Given the description of an element on the screen output the (x, y) to click on. 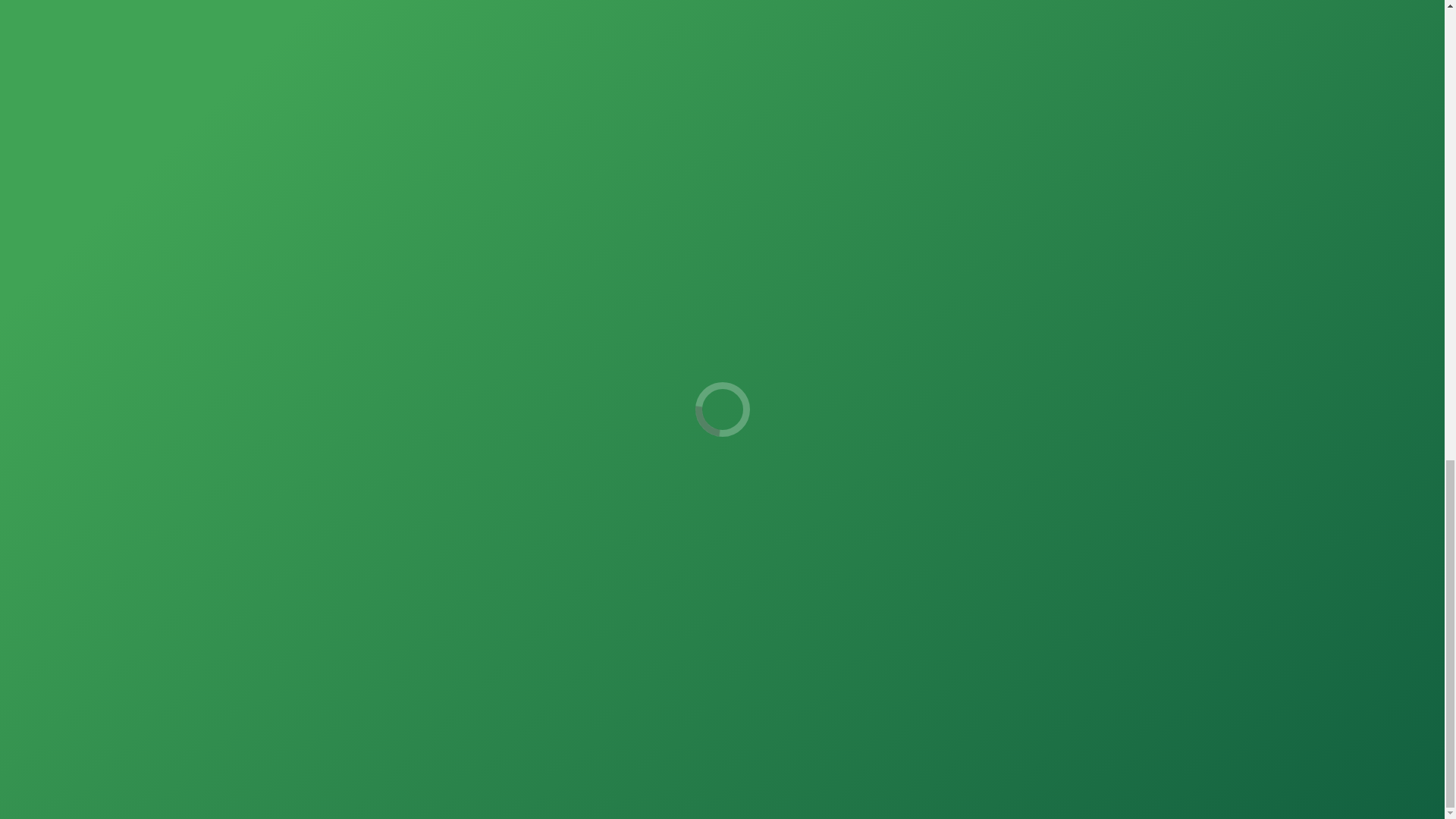
Twitter (700, 404)
Pinterest (741, 404)
Facebook (659, 404)
LinkedIn (781, 404)
18:40 (901, 294)
